Given the description of an element on the screen output the (x, y) to click on. 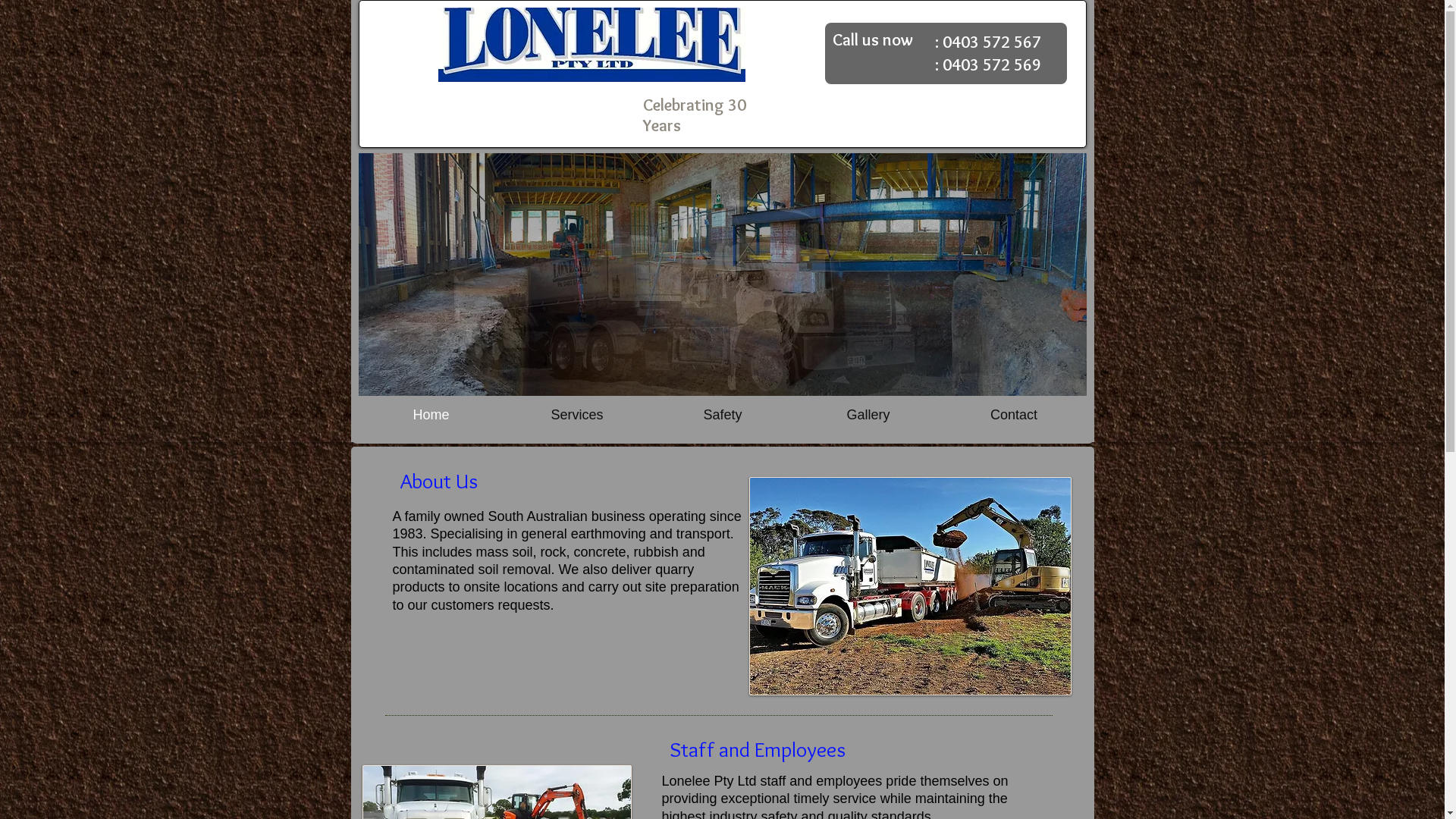
Services Element type: text (576, 414)
Contact Element type: text (1012, 414)
Safety Element type: text (721, 414)
10447616_667677330006253_18142728720828597_n.jpg Element type: hover (910, 585)
Home Element type: text (430, 414)
Facebook Like Element type: hover (945, 110)
Gallery Element type: text (867, 414)
